Given the description of an element on the screen output the (x, y) to click on. 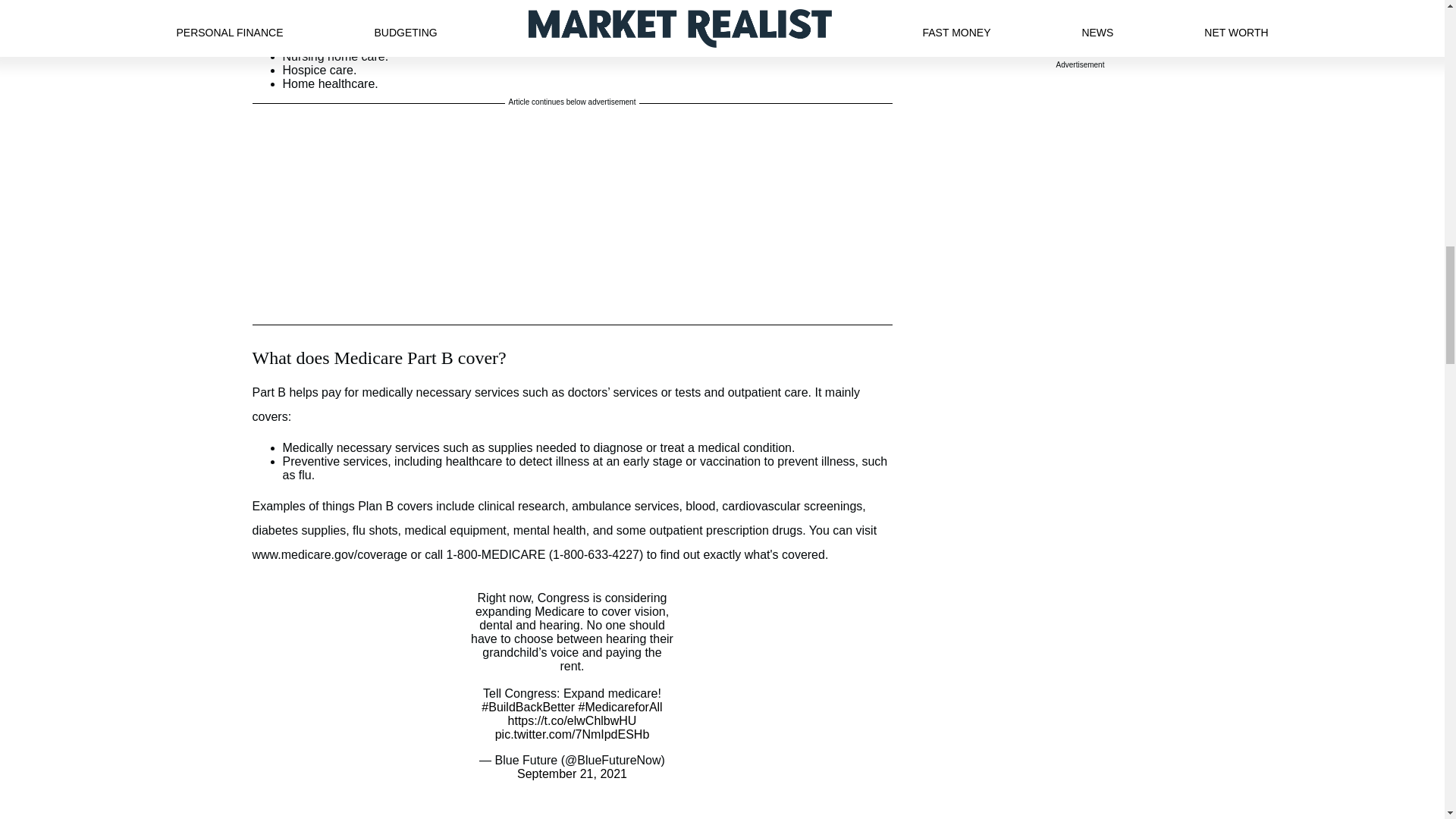
September 21, 2021 (571, 773)
